Given the description of an element on the screen output the (x, y) to click on. 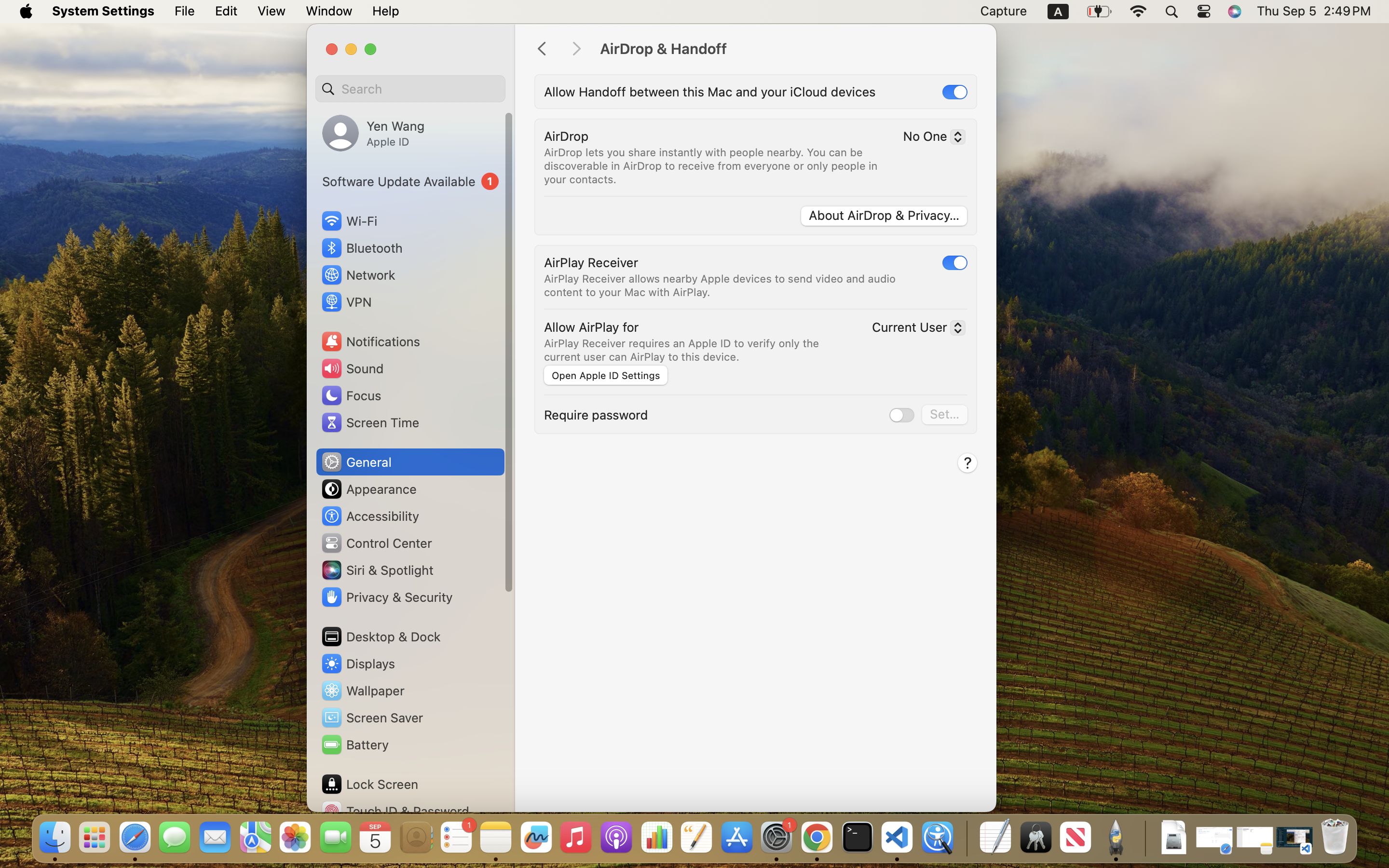
Displays Element type: AXStaticText (357, 663)
Privacy & Security Element type: AXStaticText (386, 596)
Siri & Spotlight Element type: AXStaticText (376, 569)
VPN Element type: AXStaticText (345, 301)
Allow AirPlay for Element type: AXStaticText (591, 326)
